Given the description of an element on the screen output the (x, y) to click on. 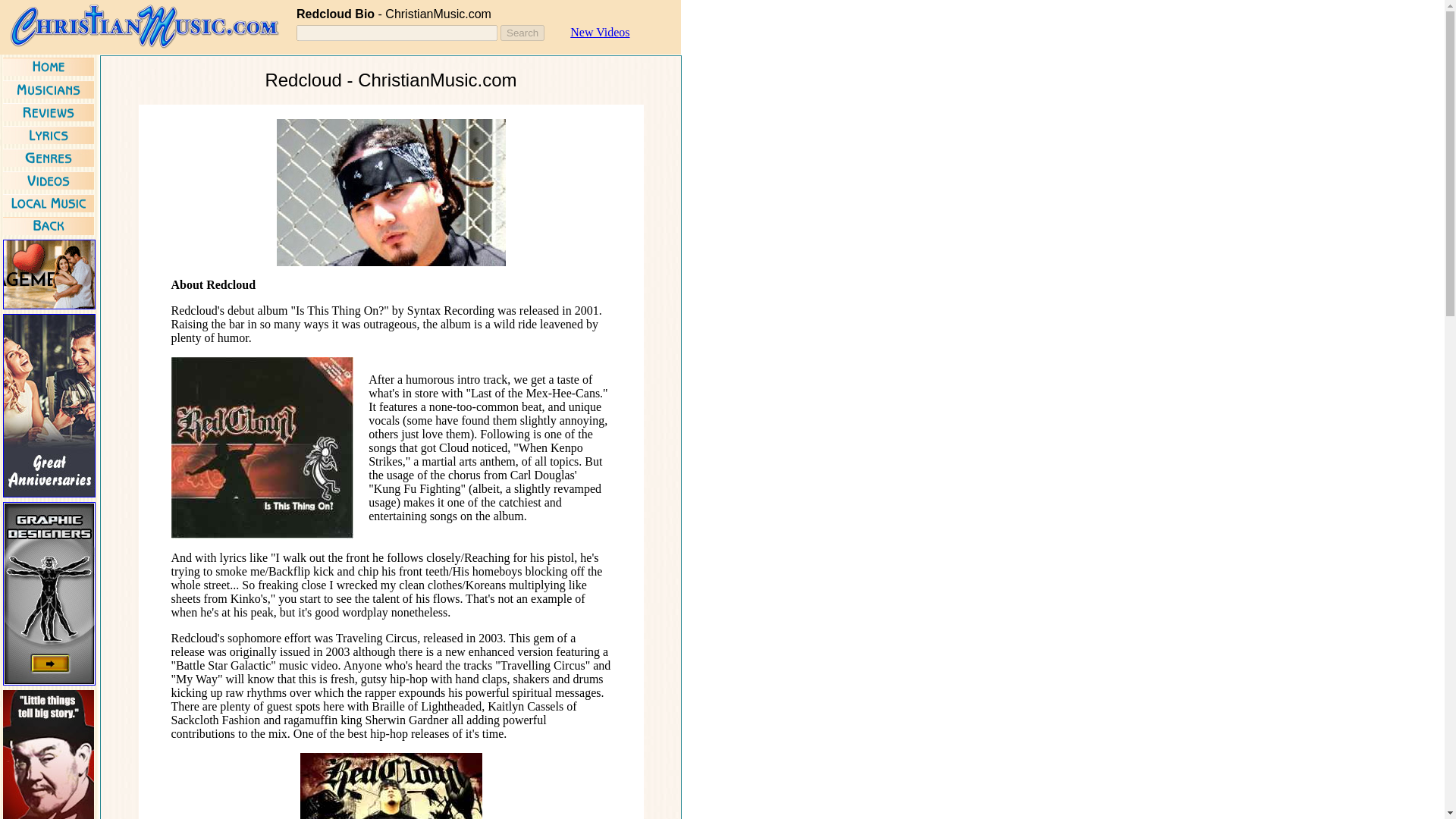
Search (522, 32)
New Videos (599, 31)
Search (522, 32)
